Given the description of an element on the screen output the (x, y) to click on. 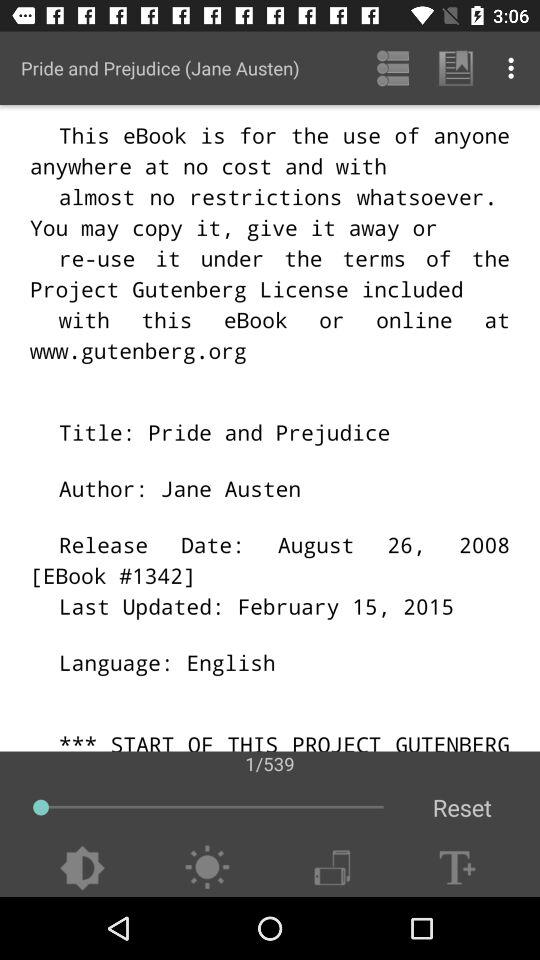
tap item below the 1/539 item (462, 807)
